Given the description of an element on the screen output the (x, y) to click on. 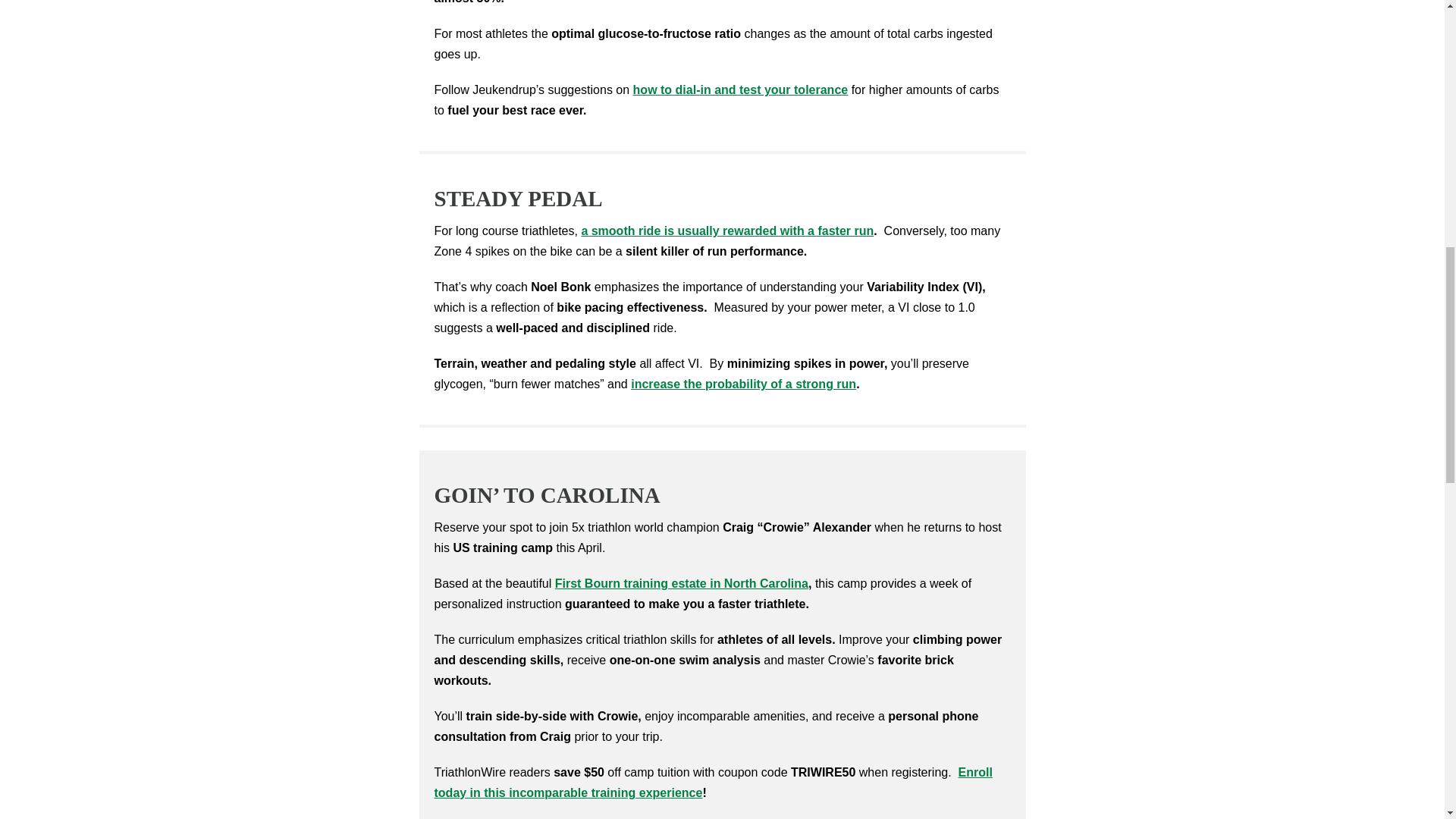
how to dial-in and test your tolerance (740, 89)
a smooth ride is usually rewarded with a faster run (726, 230)
First Bourn training estate in North Carolina (681, 583)
increase the probability of a strong run (743, 383)
Enroll today in this incomparable training experience (712, 782)
